Given the description of an element on the screen output the (x, y) to click on. 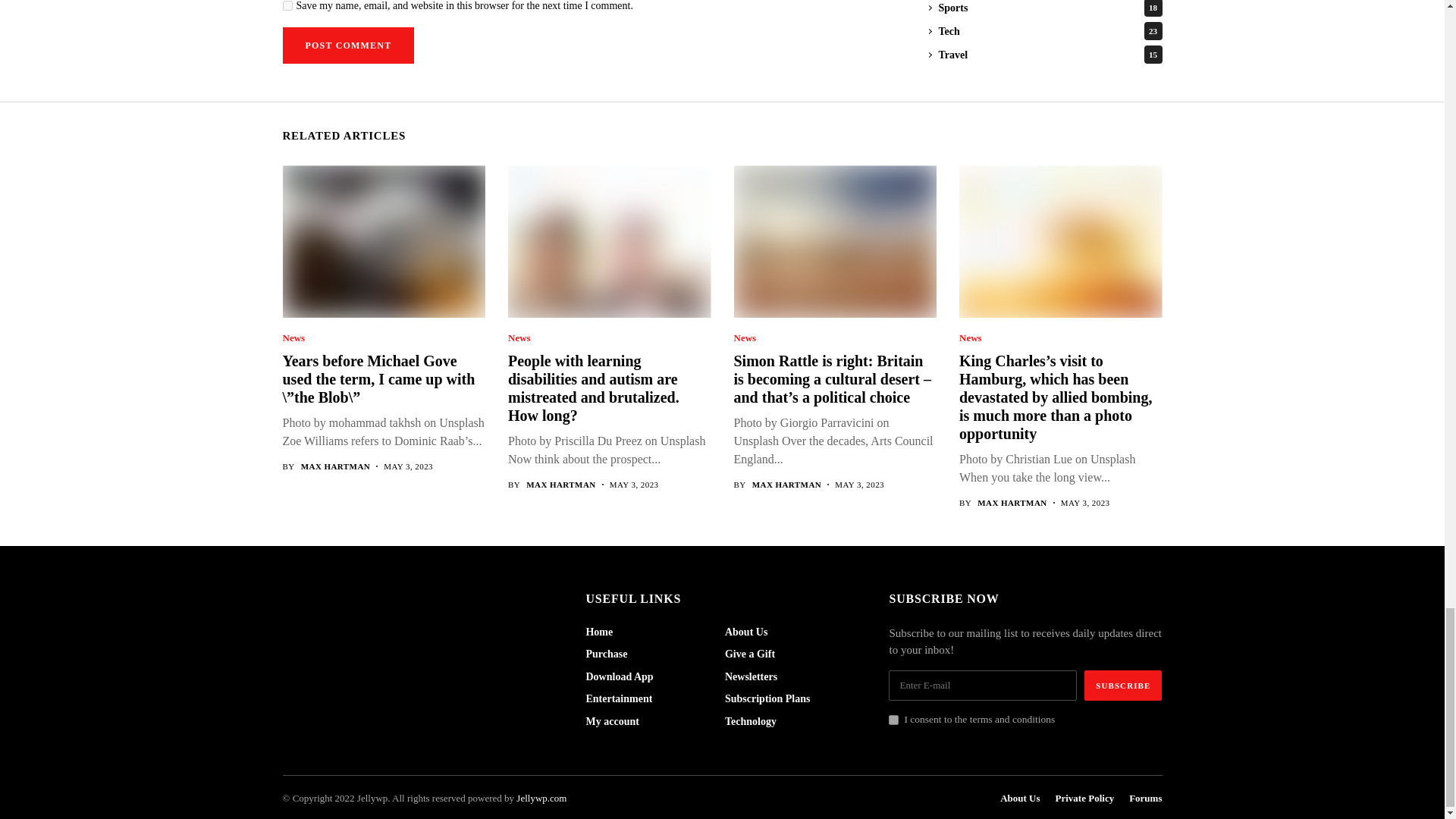
Posts by Max Hartman (560, 484)
yes (287, 5)
Posts by Max Hartman (787, 484)
Subscribe (1122, 685)
Posts by Max Hartman (1011, 502)
1 (893, 719)
Posts by Max Hartman (336, 466)
